Given the description of an element on the screen output the (x, y) to click on. 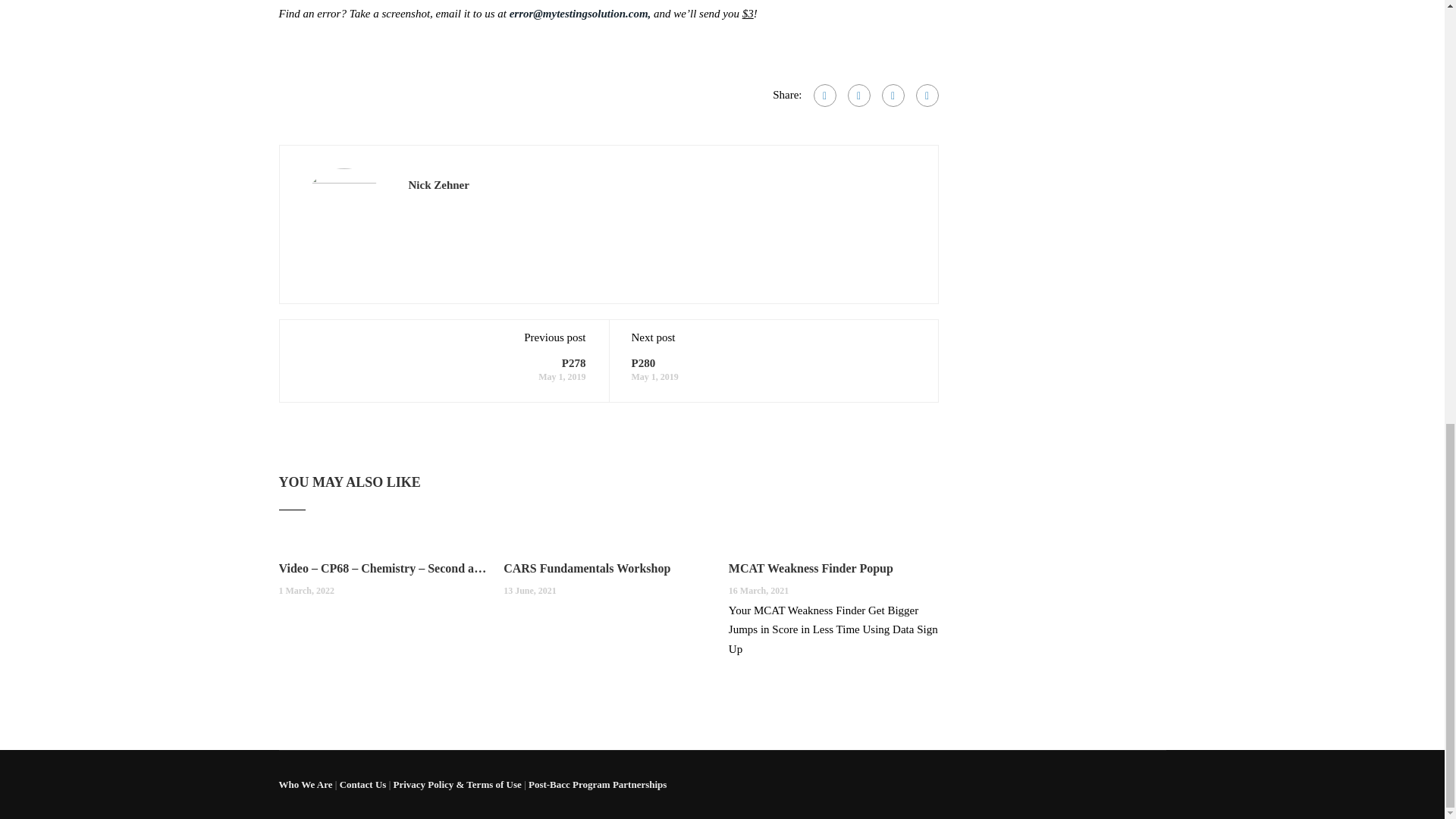
CARS Fundamentals Workshop (608, 568)
Google Plus (858, 95)
Twitter (892, 95)
Nick Zehner (437, 184)
CARS Fundamentals Workshop (608, 568)
Facebook (823, 95)
MCAT Weakness Finder Popup (834, 568)
P280 (642, 363)
MCAT Weakness Finder Popup (834, 568)
Pinterest (927, 95)
